Given the description of an element on the screen output the (x, y) to click on. 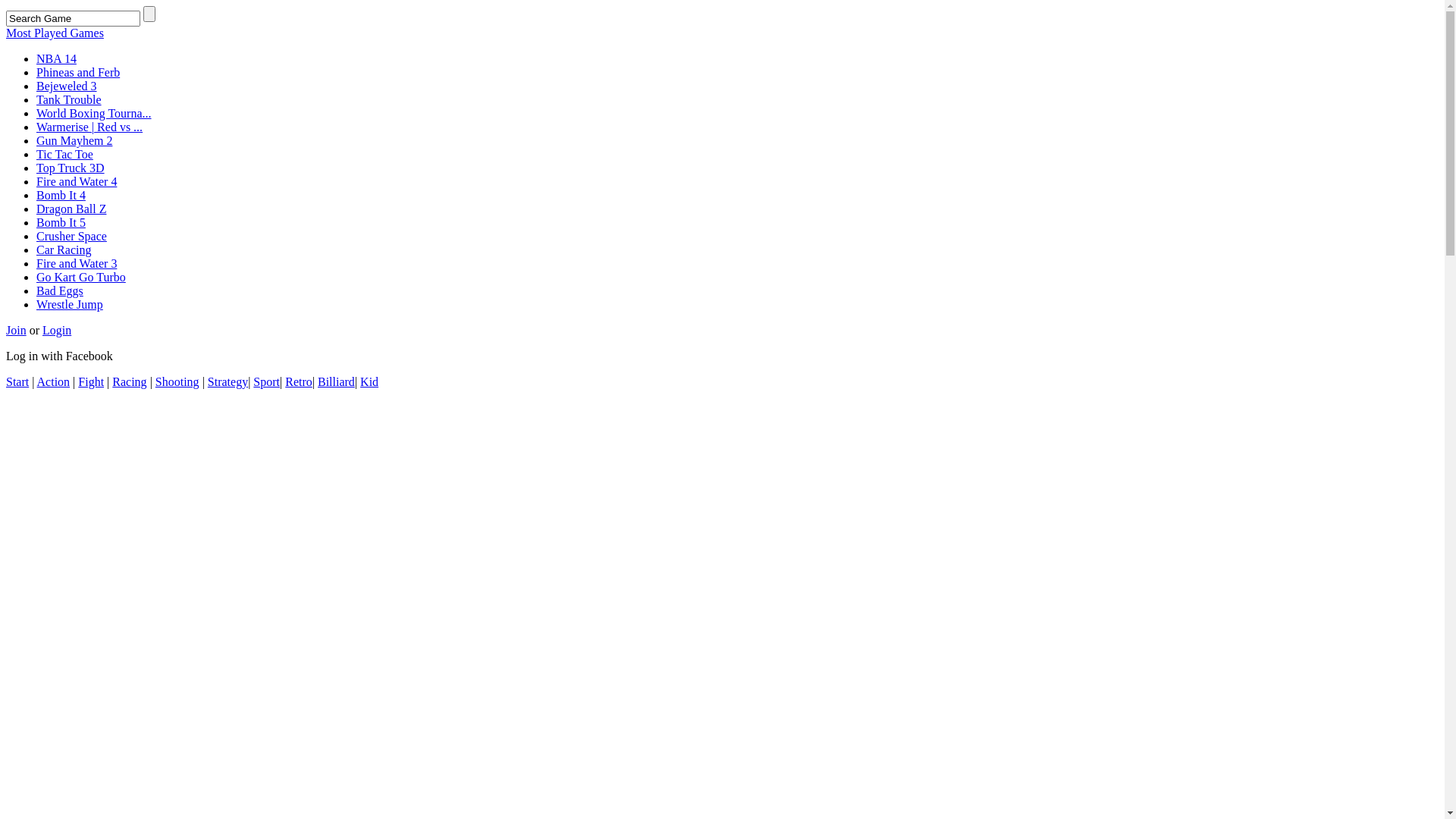
Fire and Water 3 Element type: text (76, 263)
Bejeweled 3 Element type: text (66, 85)
Fight Element type: text (90, 381)
Racing Element type: text (129, 381)
Start Element type: text (17, 381)
Tic Tac Toe Element type: text (64, 153)
Join Element type: text (16, 329)
Shooting Element type: text (177, 381)
Sport Element type: text (266, 381)
Strategy Element type: text (227, 381)
Car Racing Element type: text (63, 249)
Action Element type: text (53, 381)
Fire and Water 4 Element type: text (76, 181)
Tank Trouble Element type: text (68, 99)
NBA 14 Element type: text (56, 58)
Most Played Games Element type: text (54, 32)
Gun Mayhem 2 Element type: text (74, 140)
Kid Element type: text (369, 381)
Dragon Ball Z Element type: text (71, 208)
Bad Eggs Element type: text (59, 290)
Crusher Space Element type: text (71, 235)
Wrestle Jump Element type: text (69, 304)
Bomb It 4 Element type: text (60, 194)
Go Kart Go Turbo Element type: text (80, 276)
Warmerise | Red vs ... Element type: text (89, 126)
World Boxing Tourna... Element type: text (93, 112)
Login Element type: text (56, 329)
Retro Element type: text (298, 381)
Top Truck 3D Element type: text (70, 167)
Bomb It 5 Element type: text (60, 222)
Billiard Element type: text (335, 381)
Phineas and Ferb Element type: text (77, 71)
